Given the description of an element on the screen output the (x, y) to click on. 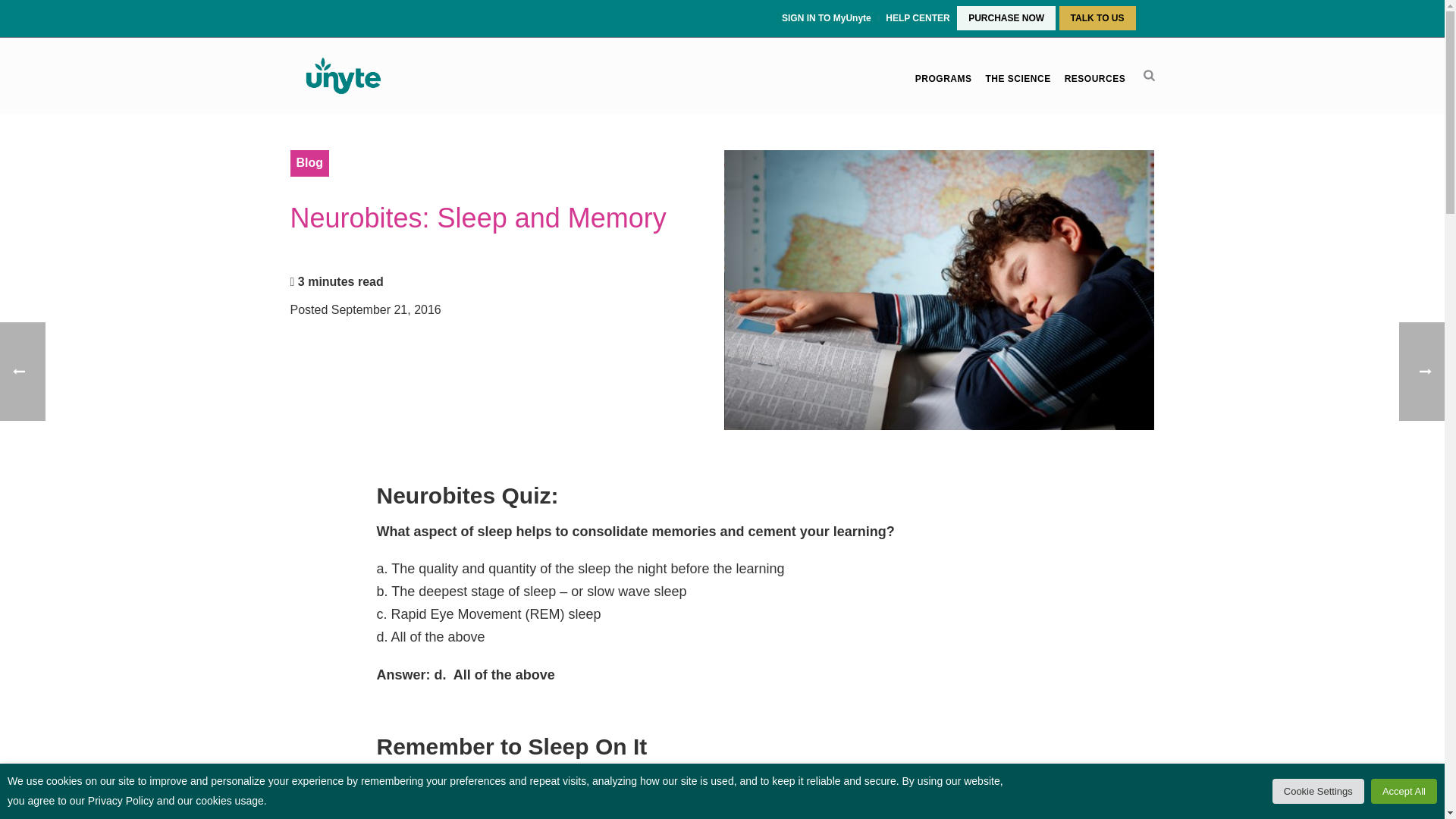
Multi-sensory Listening Therapy for Autism, LD, ADHS and SPD (342, 75)
PURCHASE NOW (1005, 17)
HELP CENTER (917, 18)
SIGN IN TO MyUnyte (828, 18)
PROGRAMS (943, 79)
RESOURCES (1095, 79)
PROGRAMS (943, 79)
THE SCIENCE (1017, 79)
TALK TO US (1097, 17)
